Given the description of an element on the screen output the (x, y) to click on. 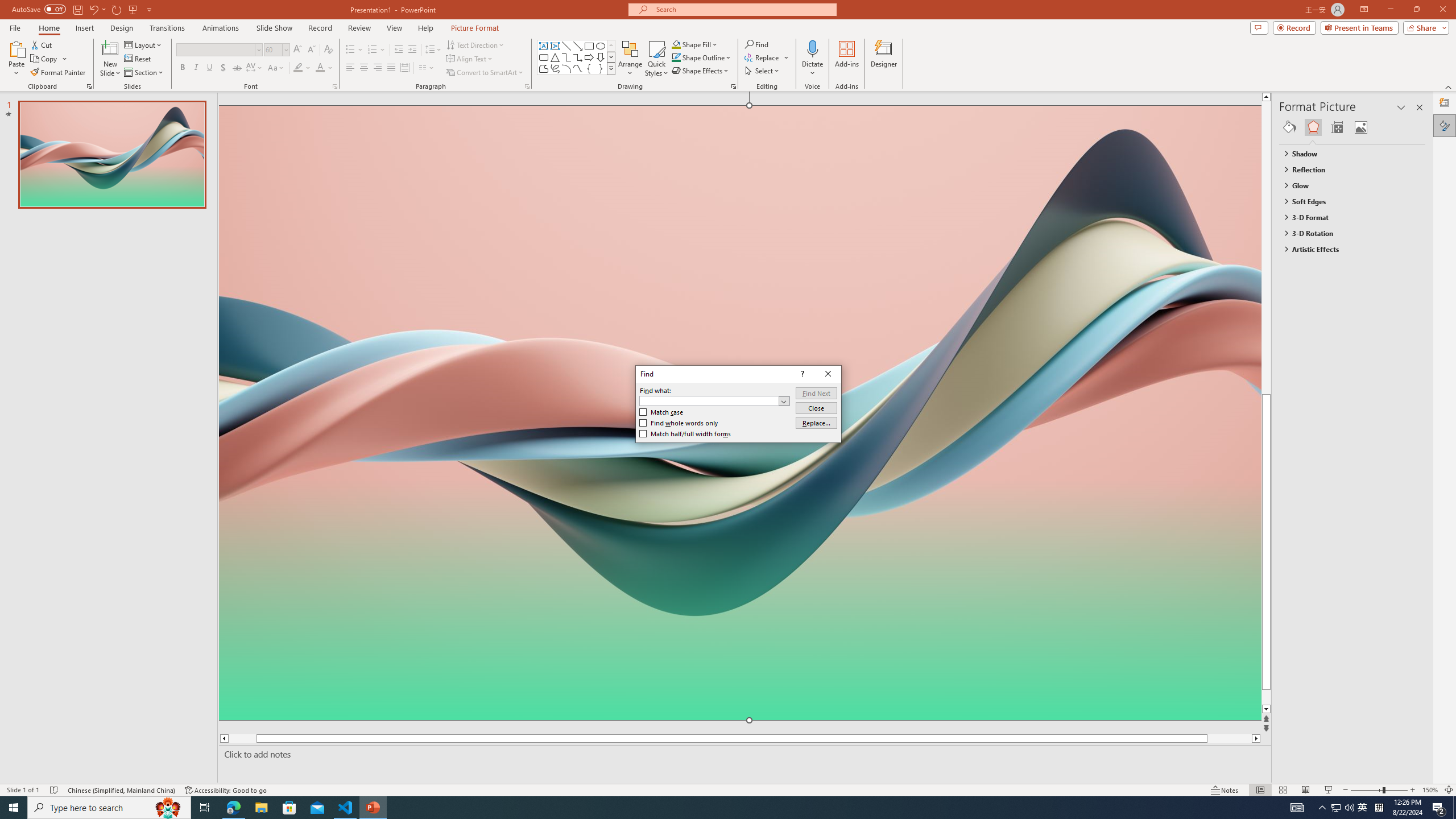
Glow (1347, 185)
3-D Rotation (1347, 232)
